Given the description of an element on the screen output the (x, y) to click on. 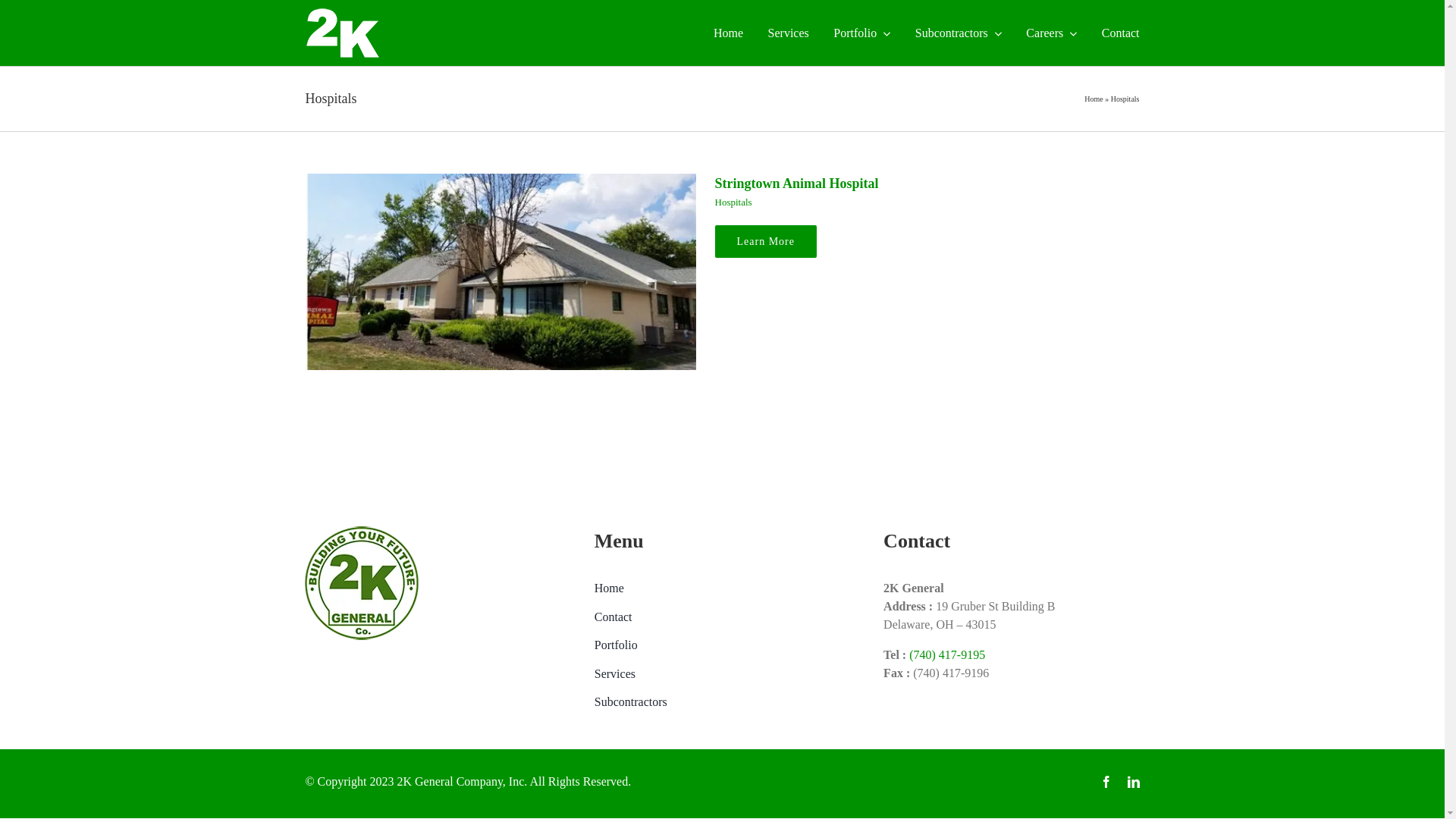
Home Element type: text (722, 588)
Portfolio Element type: text (722, 645)
Stringtown Animal Hospital Element type: text (796, 183)
Home Element type: text (728, 33)
Facebook Element type: hover (1106, 781)
Contact Element type: text (1120, 33)
Services Element type: text (722, 674)
Services Element type: text (788, 33)
Contact Element type: text (722, 617)
Learn More Element type: text (764, 240)
Portfolio Element type: text (861, 33)
LinkedIn Element type: hover (1133, 781)
Careers Element type: text (1051, 33)
Home Element type: text (1093, 98)
(740) 417-9195 Element type: text (947, 654)
Subcontractors Element type: text (722, 702)
Hospitals Element type: text (732, 201)
Subcontractors Element type: text (958, 33)
